Given the description of an element on the screen output the (x, y) to click on. 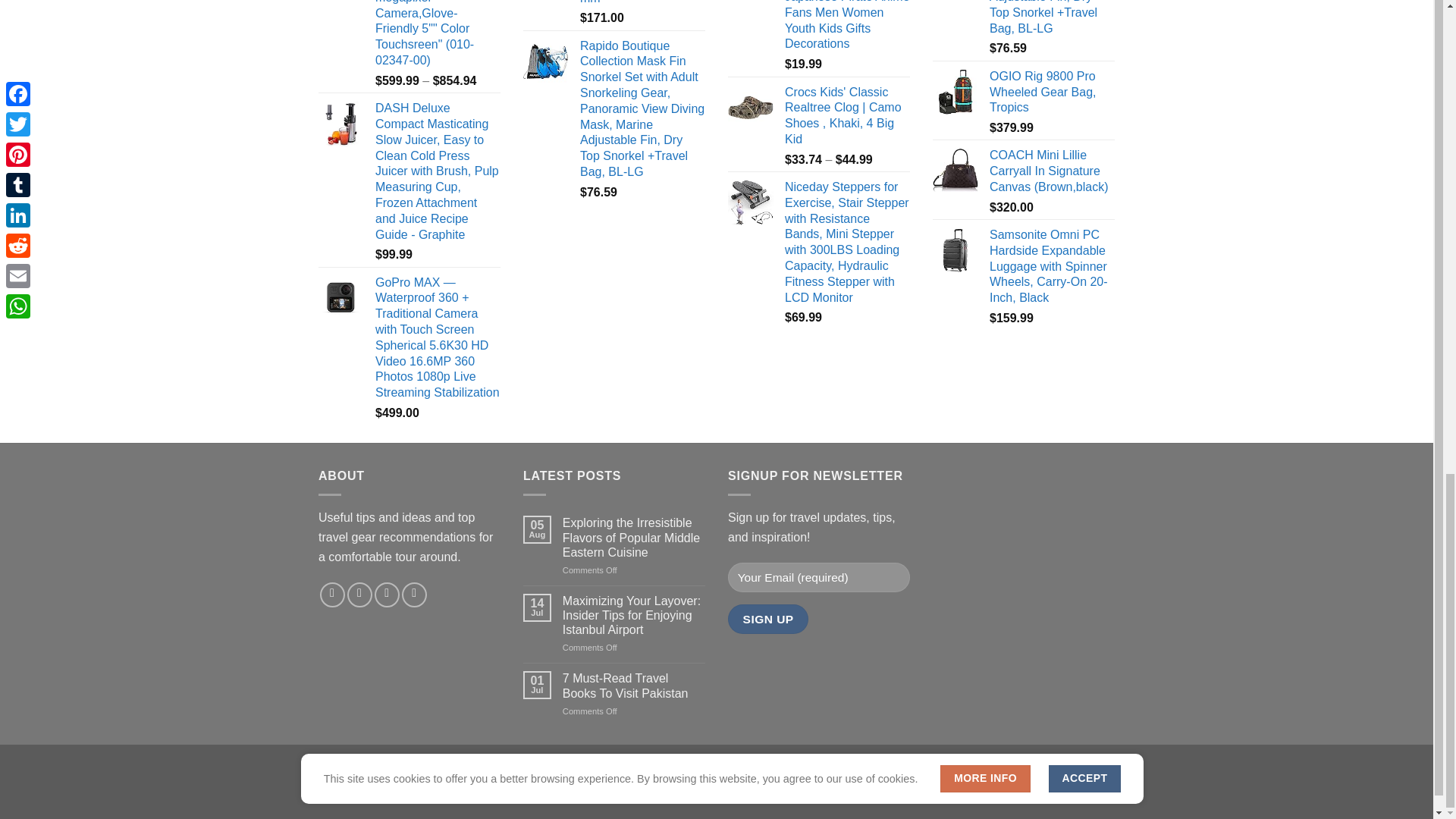
Follow on Instagram (332, 594)
Sign Up (768, 618)
Follow on Pinterest (359, 594)
